Given the description of an element on the screen output the (x, y) to click on. 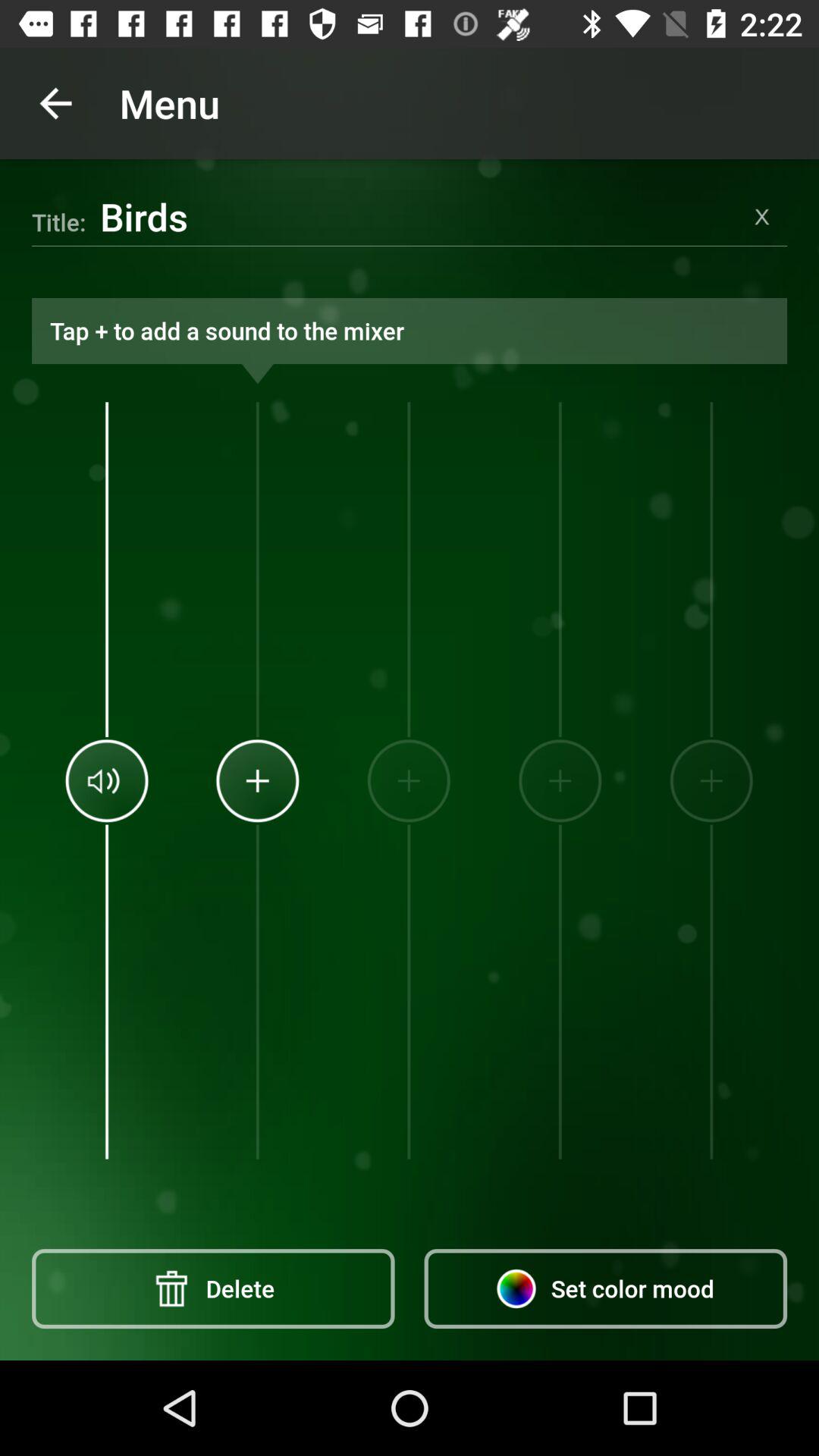
select the icon next to menu icon (55, 103)
